Given the description of an element on the screen output the (x, y) to click on. 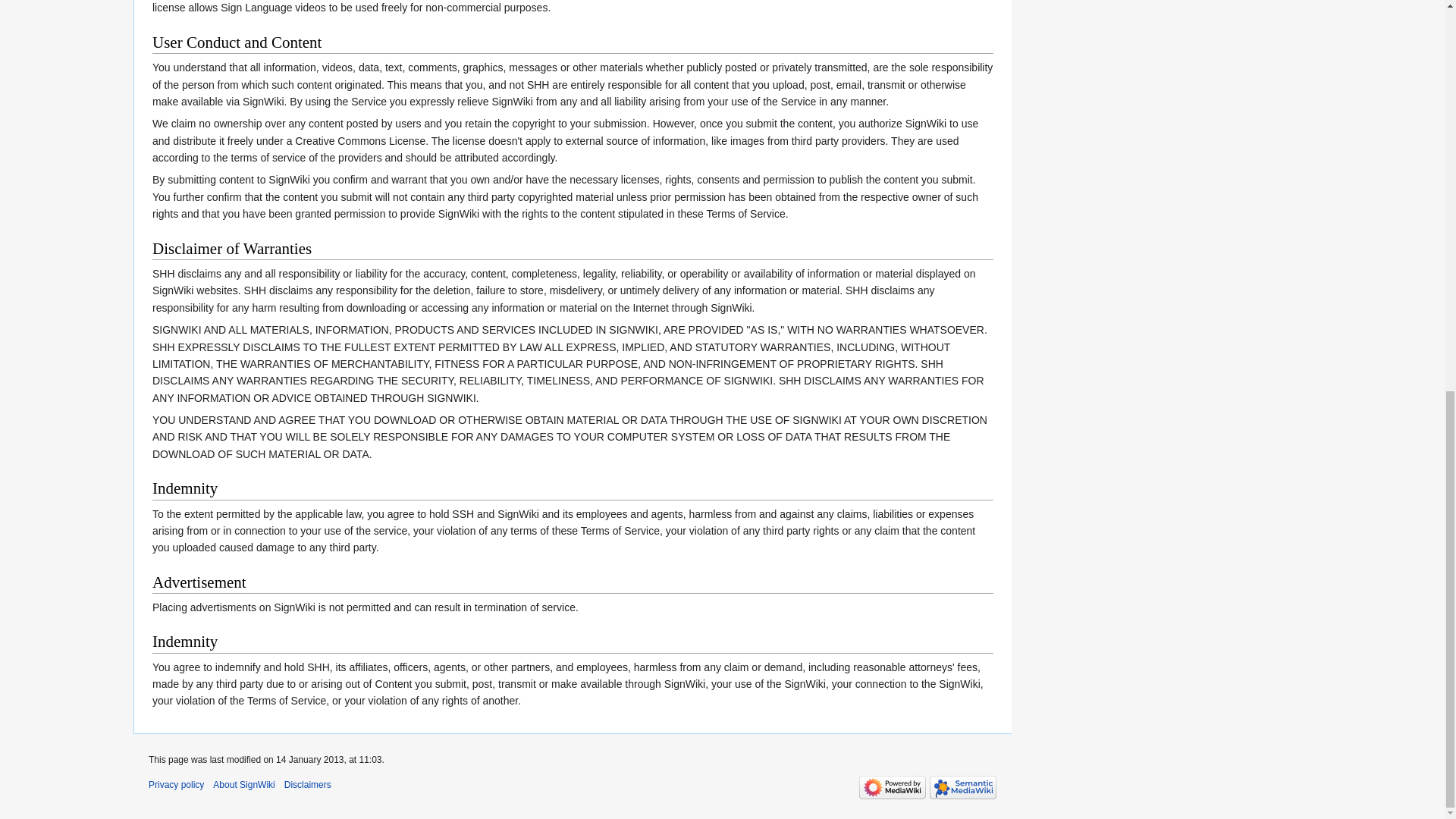
SignWiki:About (243, 784)
SignWiki:Privacy policy (175, 784)
Privacy policy (175, 784)
